Given the description of an element on the screen output the (x, y) to click on. 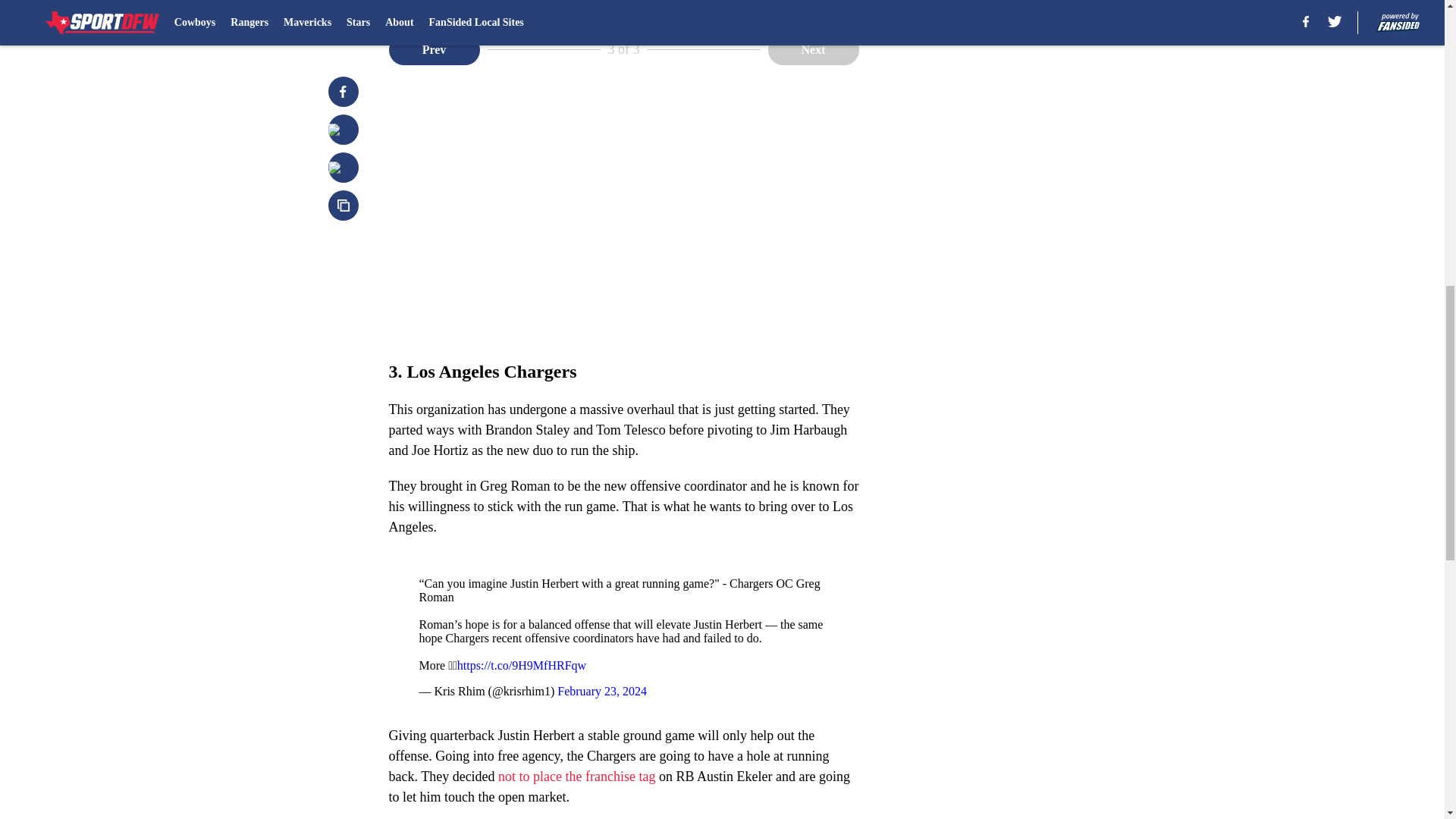
Next (813, 50)
not to place the franchise tag (576, 776)
February 23, 2024 (601, 690)
Prev (433, 50)
